Given the description of an element on the screen output the (x, y) to click on. 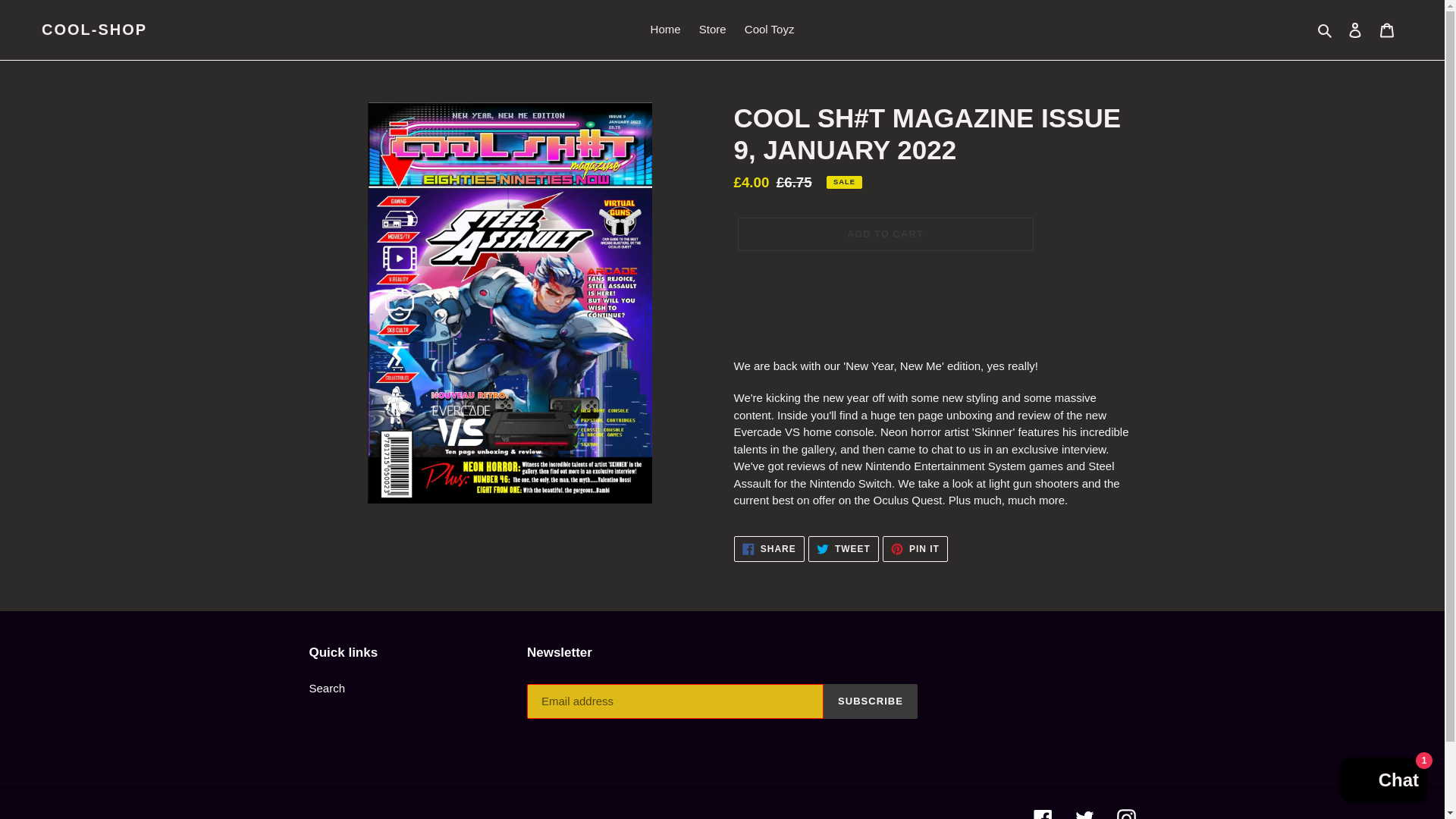
Home (843, 548)
Twitter (665, 29)
ADD TO CART (1084, 814)
Log in (884, 233)
Shopify online store chat (769, 548)
Search (1355, 29)
Instagram (1383, 781)
Cart (327, 687)
SUBSCRIBE (1125, 814)
COOL-SHOP (1387, 29)
Facebook (870, 701)
Cool Toyz (94, 29)
Store (1041, 814)
